Given the description of an element on the screen output the (x, y) to click on. 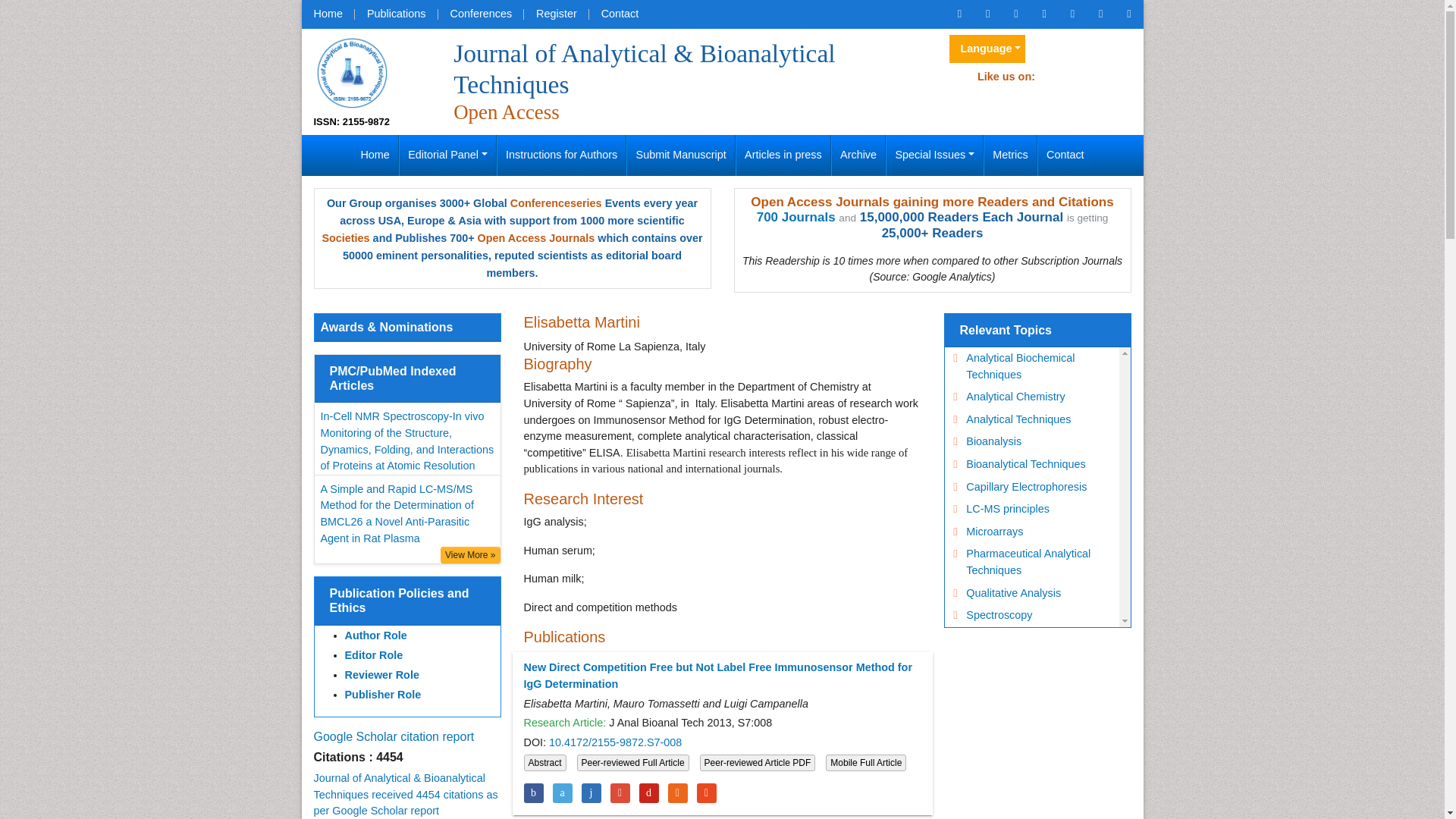
Omics Youtube (1128, 14)
OMICS Group Conferences (481, 14)
OMICS International Journals (396, 14)
Omics LinkedIn (1043, 14)
Contact (619, 14)
Instructions for Authors (561, 155)
Articles in press (782, 155)
Home (374, 155)
Omics Facebook (987, 14)
Conferences (481, 14)
